Given the description of an element on the screen output the (x, y) to click on. 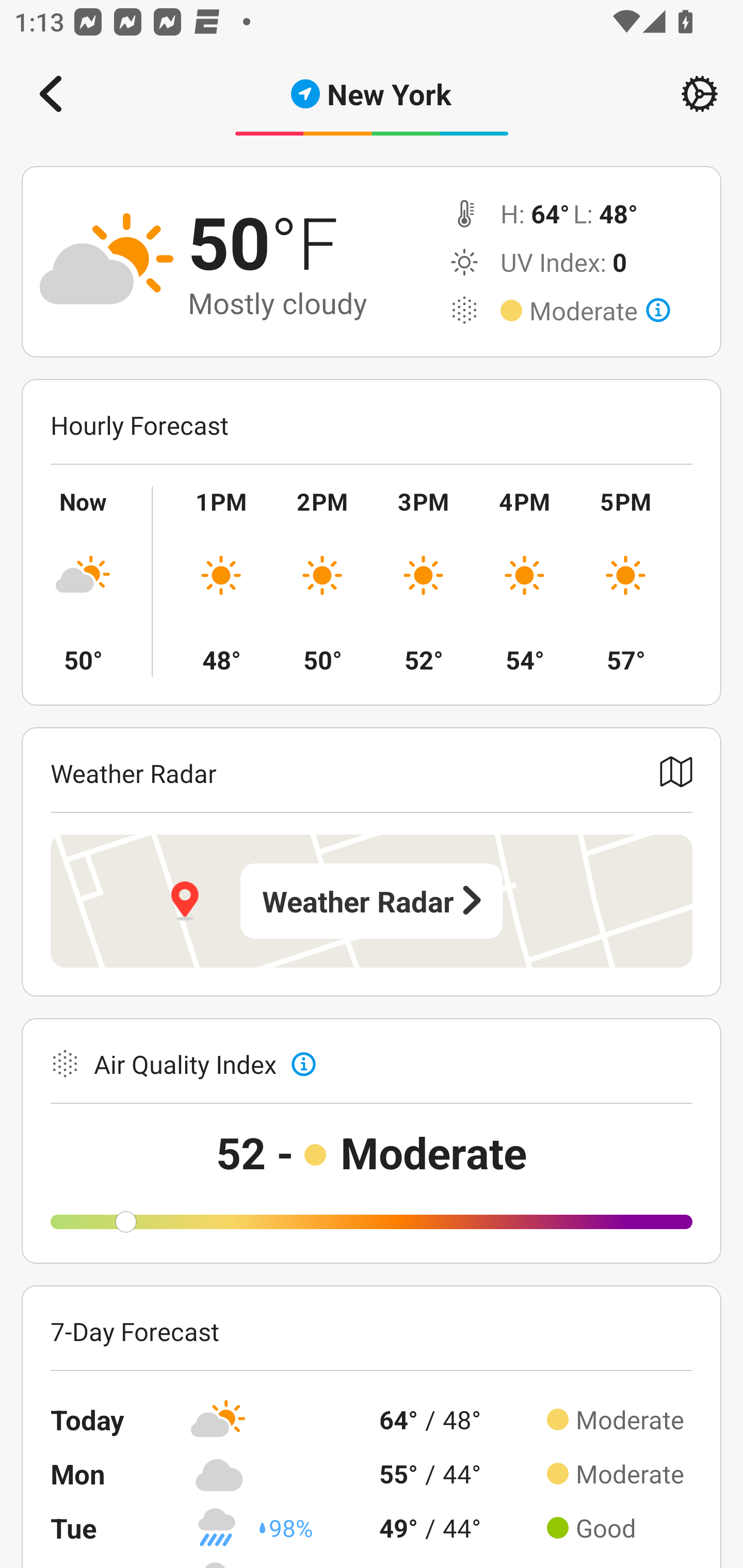
Navigate up (50, 93)
Setting (699, 93)
Moderate (599, 310)
Weather Radar (371, 900)
